Given the description of an element on the screen output the (x, y) to click on. 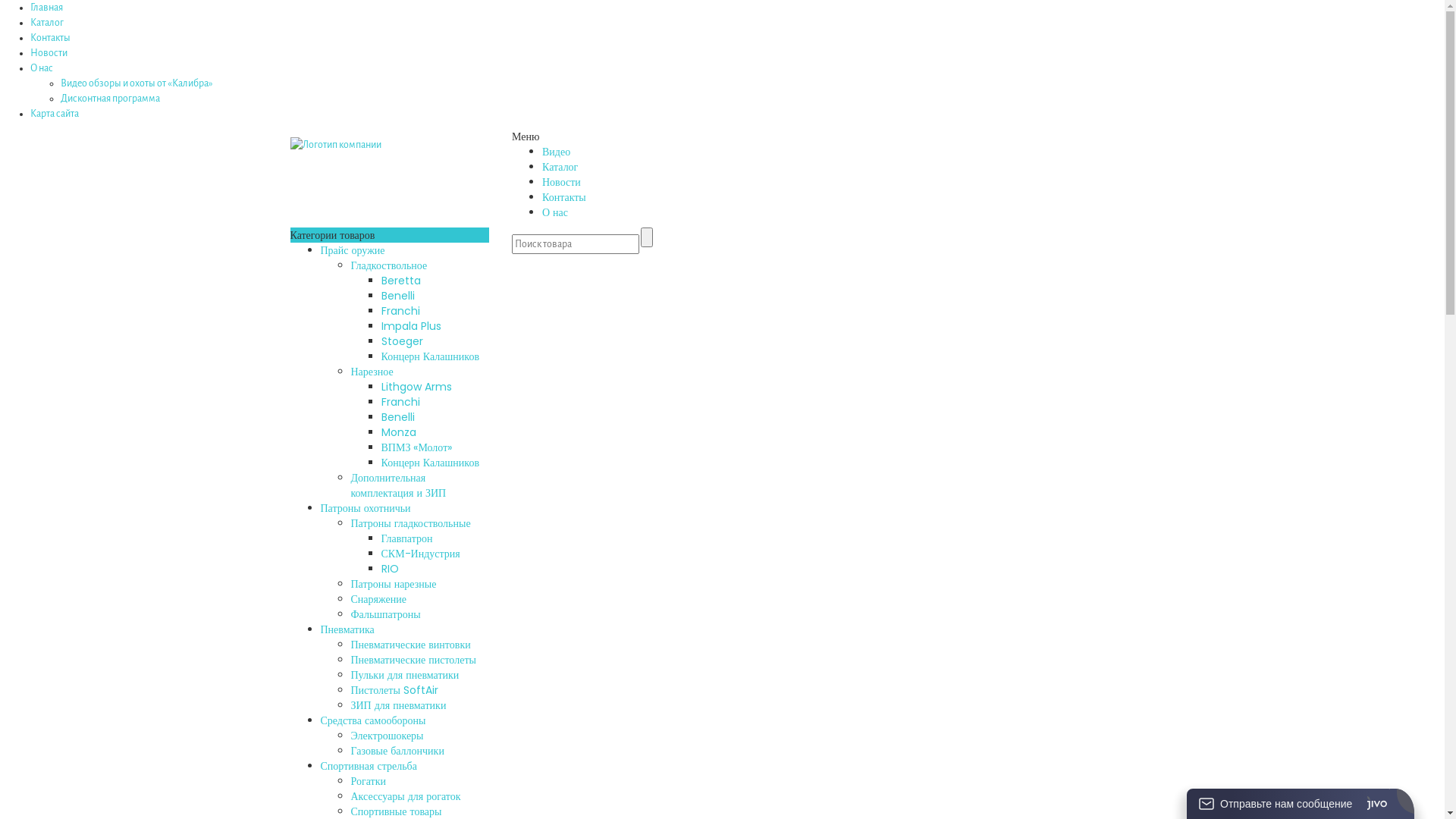
Benelli Element type: text (397, 416)
RIO Element type: text (389, 568)
Franchi Element type: text (399, 310)
Monza Element type: text (397, 431)
Franchi Element type: text (399, 401)
Impala Plus Element type: text (410, 325)
Lithgow Arms Element type: text (415, 386)
Stoeger Element type: text (401, 340)
Benelli Element type: text (397, 295)
Beretta Element type: text (400, 280)
Beretta.by Element type: hover (334, 143)
